Given the description of an element on the screen output the (x, y) to click on. 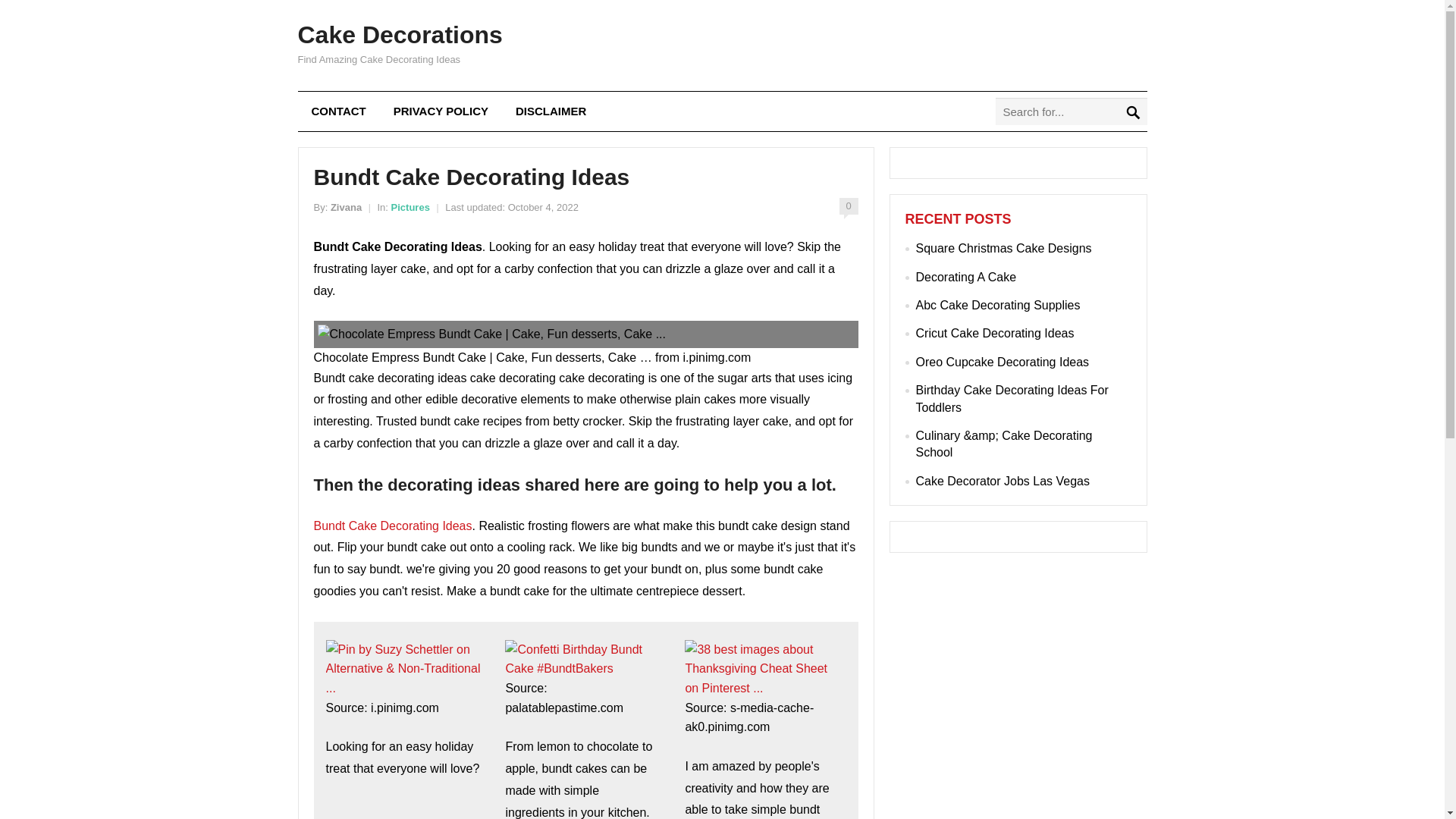
Decorating A Cake (965, 277)
Abc Cake Decorating Supplies (997, 305)
View all posts in Pictures (410, 206)
0 (847, 205)
Cake Decorations (399, 34)
Posts by Zivana (345, 206)
Cake Decorator Jobs Las Vegas (1002, 481)
Bundt Cake Decorating Ideas (392, 525)
CONTACT (337, 111)
Zivana (345, 206)
